Given the description of an element on the screen output the (x, y) to click on. 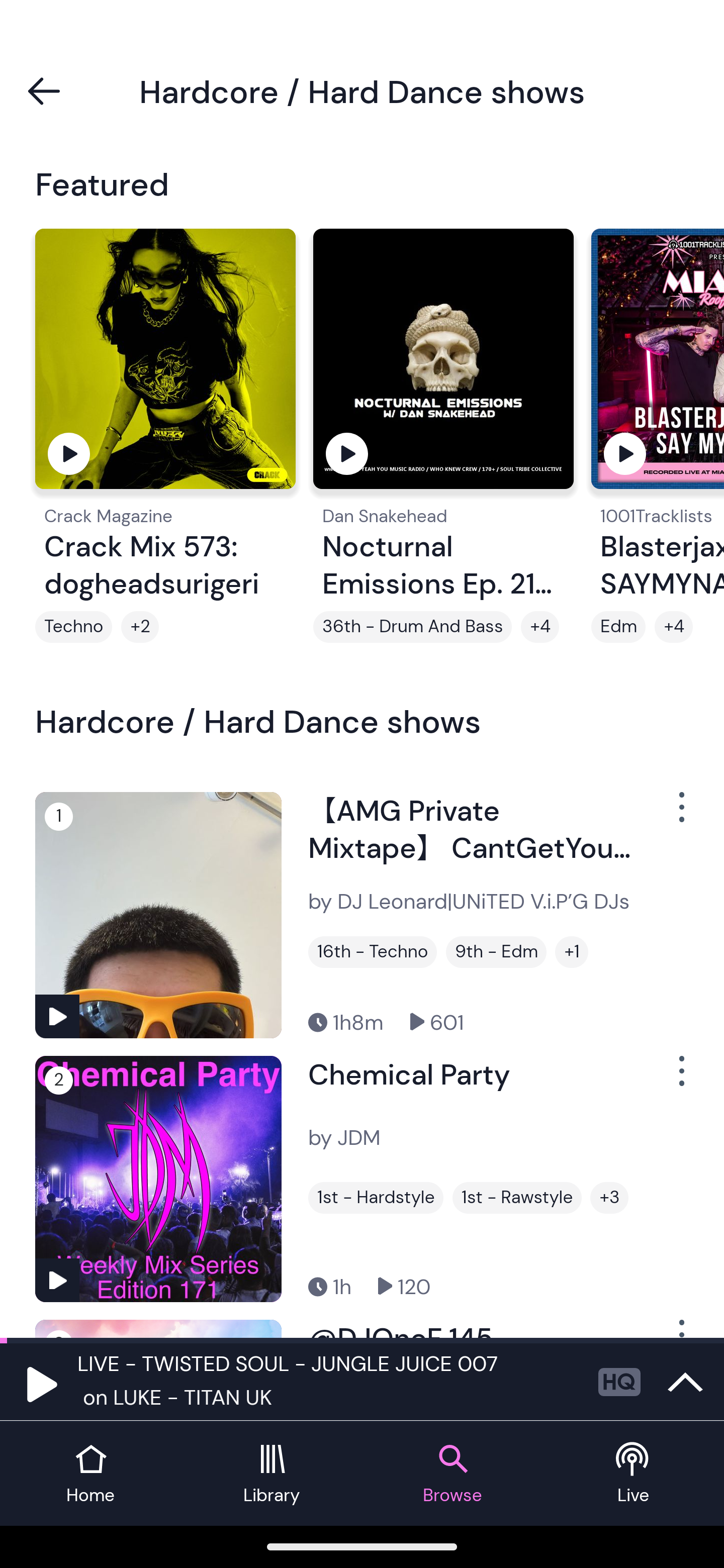
Techno (73, 626)
36th - Drum And Bass (412, 626)
Edm (618, 626)
Show Options Menu Button (679, 814)
16th - Techno (372, 951)
9th - Edm (495, 951)
Show Options Menu Button (679, 1078)
1st - Hardstyle (375, 1197)
1st - Rawstyle (516, 1197)
Home tab Home (90, 1473)
Library tab Library (271, 1473)
Browse tab Browse (452, 1473)
Live tab Live (633, 1473)
